Given the description of an element on the screen output the (x, y) to click on. 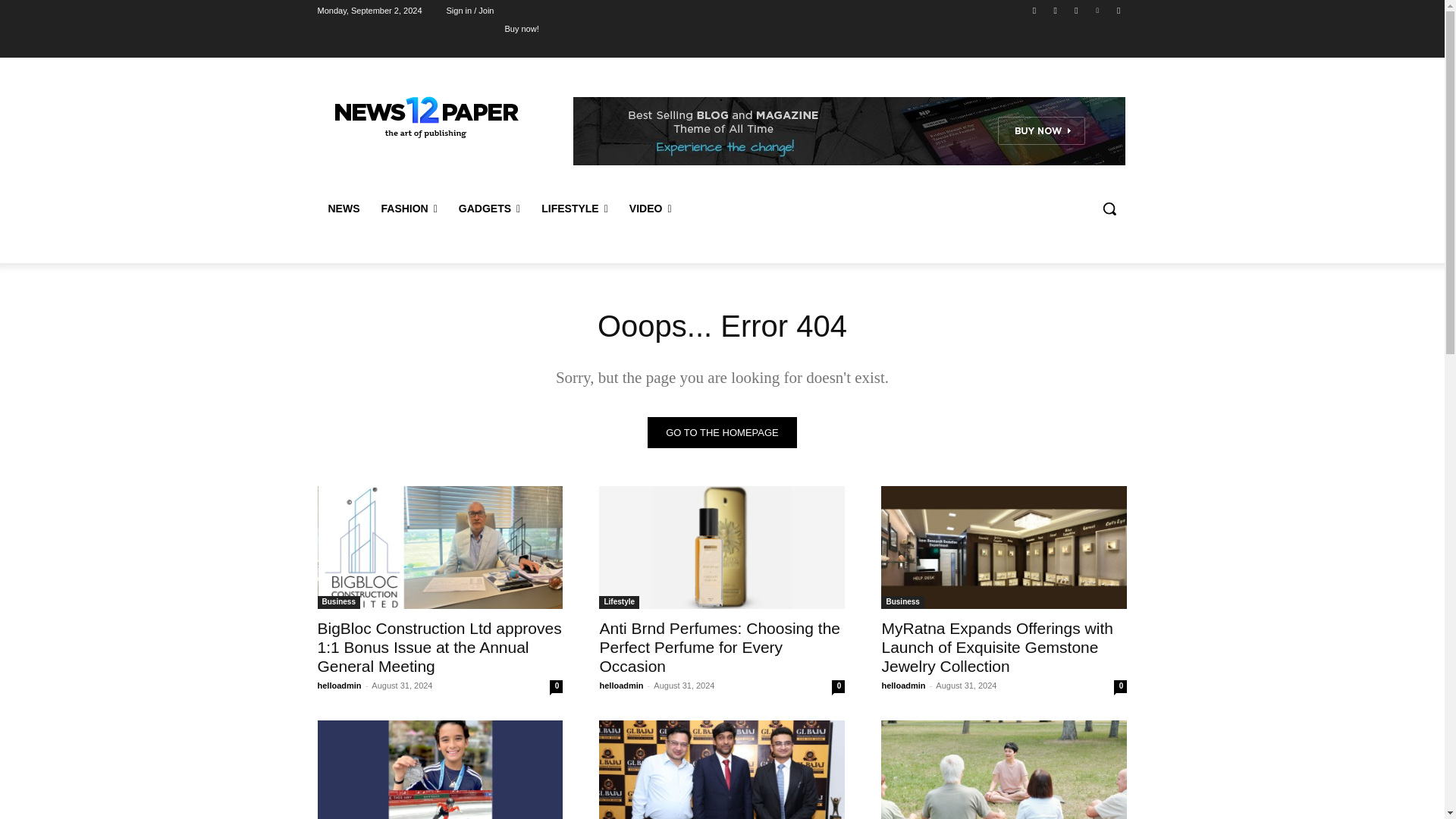
NEWS (343, 208)
Twitter (1075, 9)
Facebook (1034, 9)
Youtube (1117, 9)
FASHION (407, 208)
Instagram (1055, 9)
Buy now! (520, 28)
Vimeo (1097, 9)
